Given the description of an element on the screen output the (x, y) to click on. 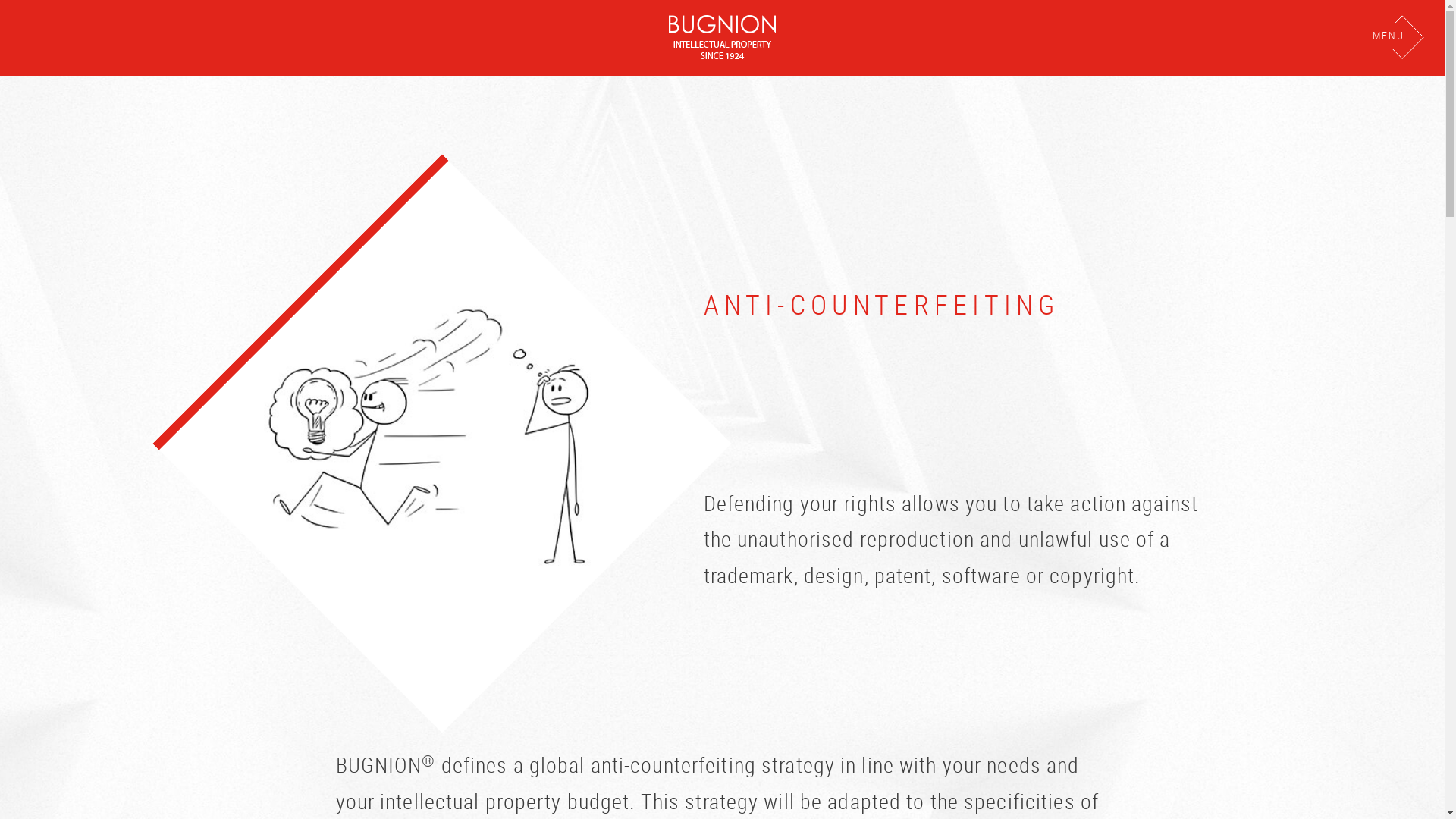
MENU Element type: text (1398, 37)
